Given the description of an element on the screen output the (x, y) to click on. 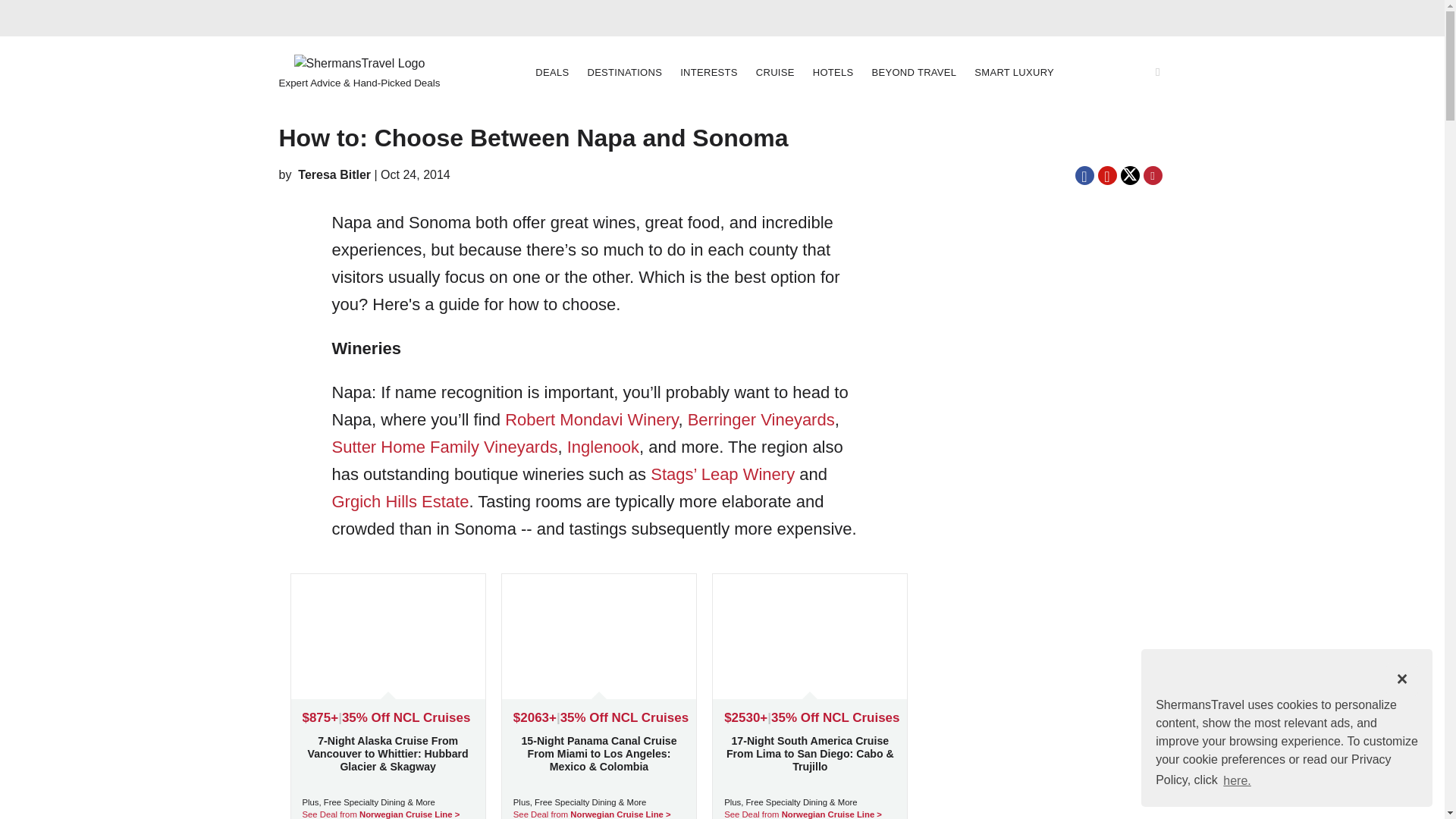
Grgich Hills Estate (399, 501)
DEALS (551, 72)
SMART LUXURY (1013, 72)
Berringer Vineyards (760, 419)
HOTELS (833, 72)
Robert Mondavi Winery (591, 419)
DESTINATIONS (624, 72)
here. (1237, 780)
INTERESTS (708, 72)
BEYOND TRAVEL (914, 72)
Inglenook (603, 446)
Sutter Home Family Vineyards (444, 446)
CRUISE (774, 72)
